Given the description of an element on the screen output the (x, y) to click on. 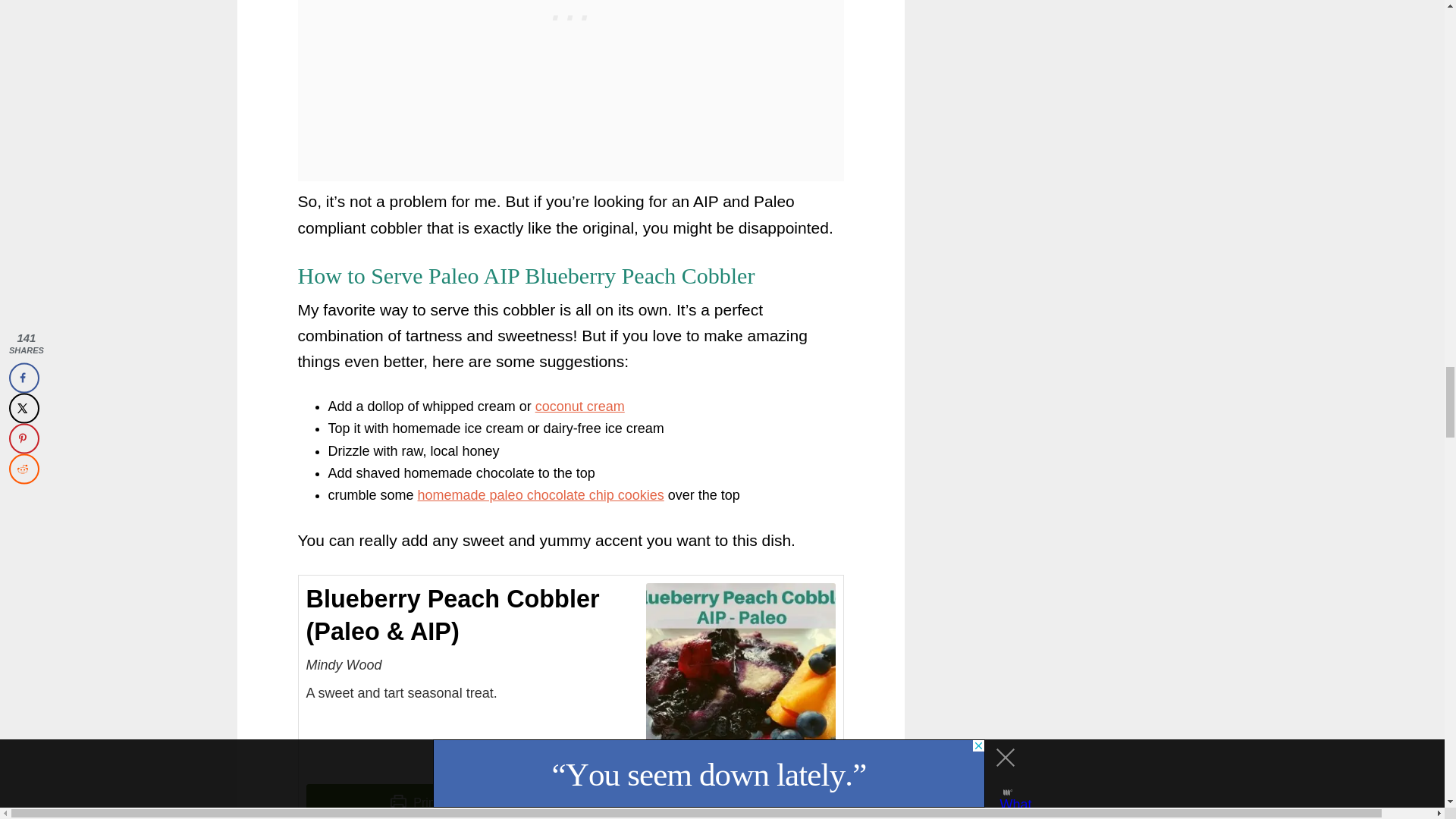
homemade paleo chocolate chip cookies (540, 494)
coconut cream (579, 406)
Pin Recipe (705, 801)
Print Recipe (434, 801)
